Given the description of an element on the screen output the (x, y) to click on. 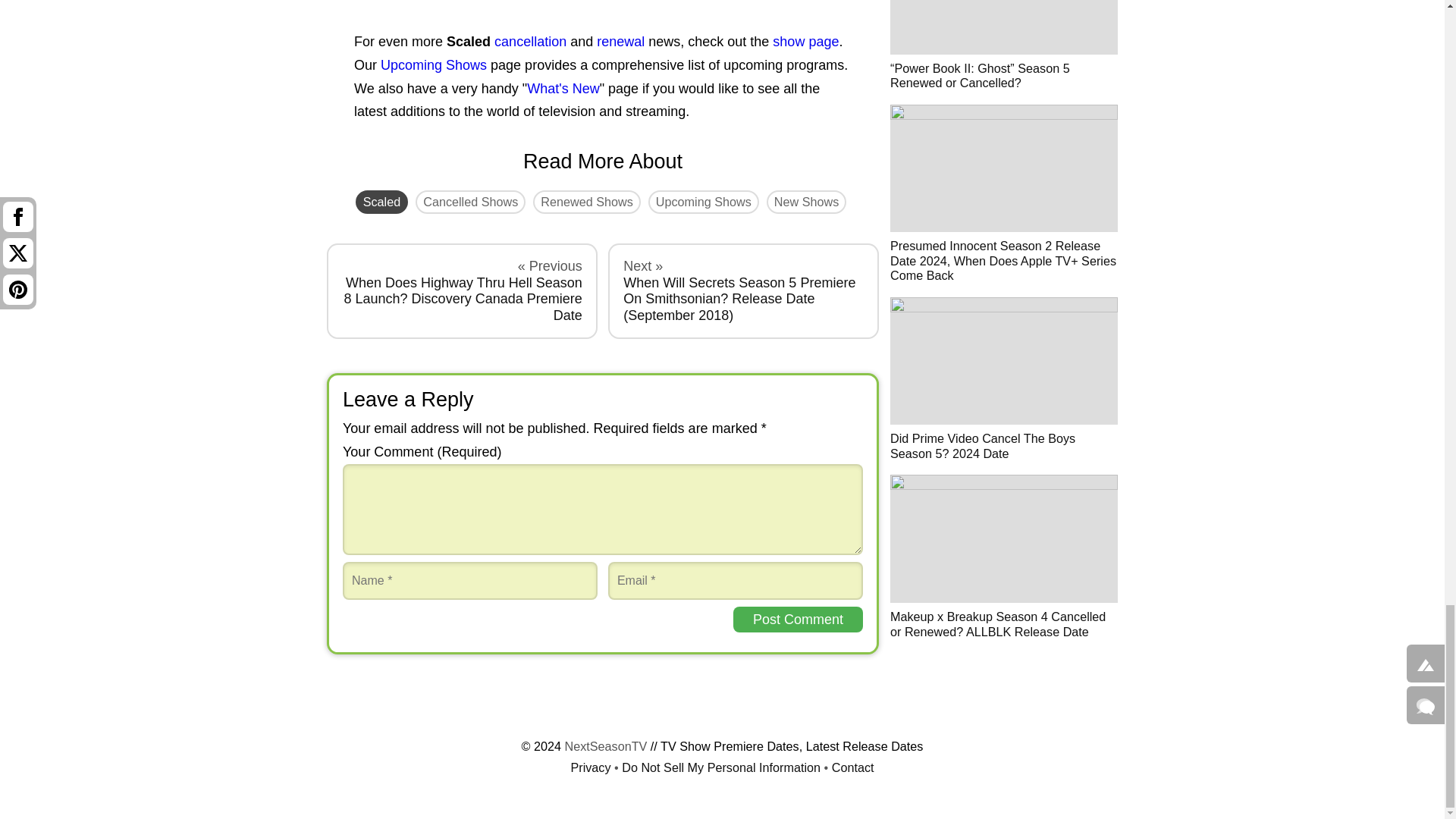
Post Comment (798, 619)
